Given the description of an element on the screen output the (x, y) to click on. 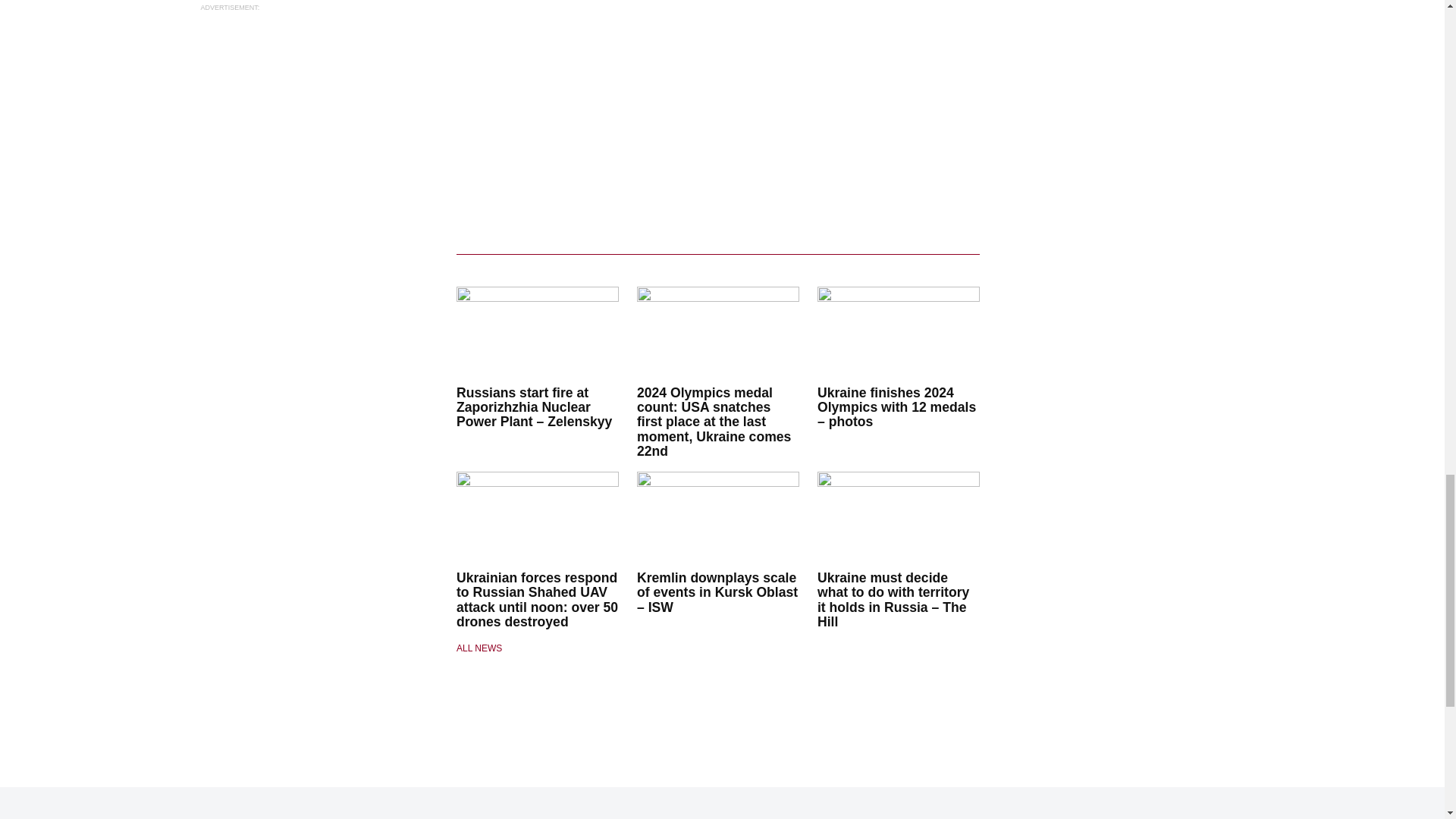
ALL NEWS (537, 647)
